Given the description of an element on the screen output the (x, y) to click on. 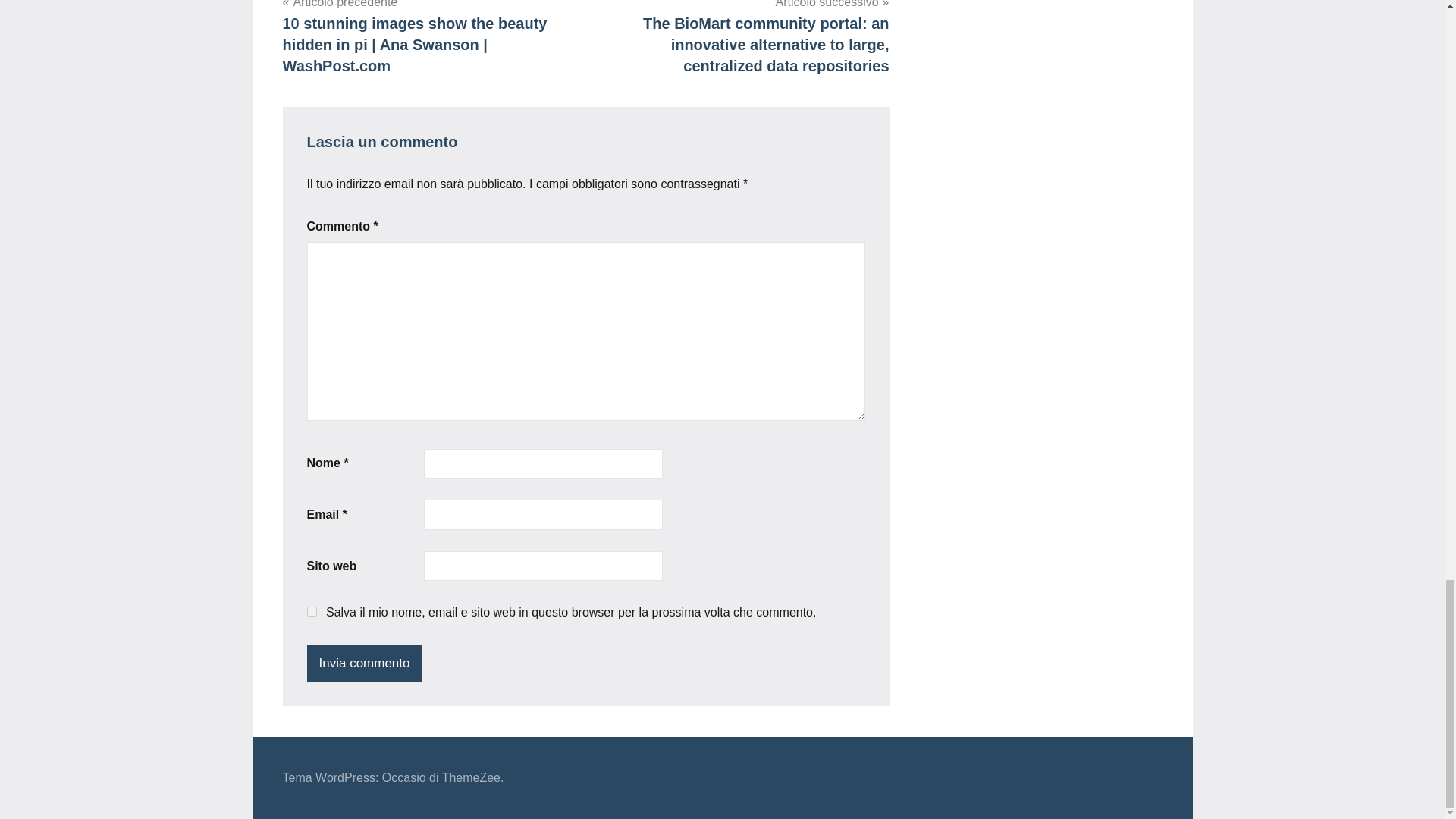
Invia commento (363, 662)
Invia commento (363, 662)
yes (310, 611)
